Given the description of an element on the screen output the (x, y) to click on. 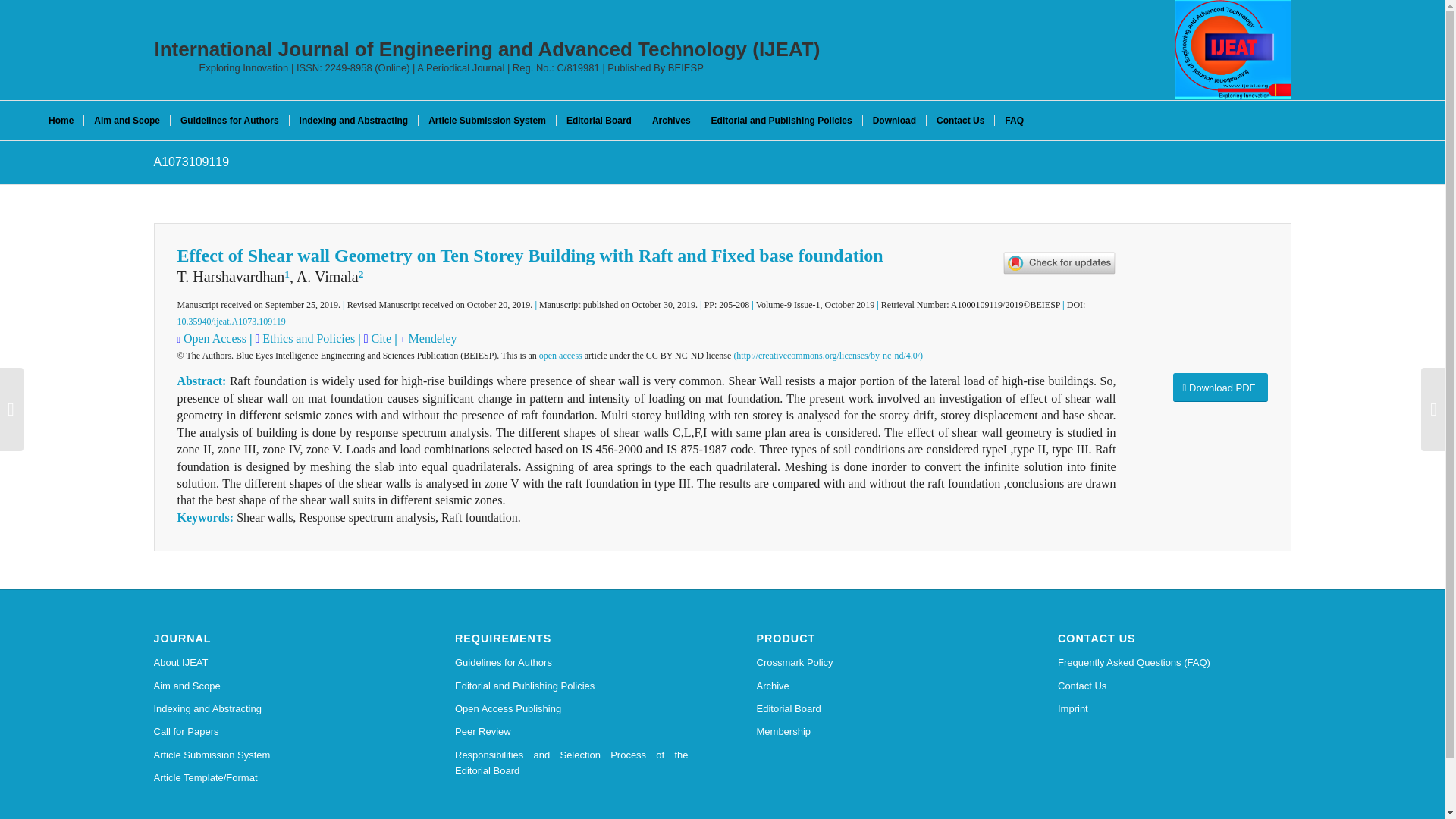
Download PDF (1219, 387)
Download (893, 120)
Article Submission System (269, 754)
Call for Papers (269, 731)
Editorial Board (599, 120)
Ethics and Policies (307, 338)
Editorial and Publishing Policies (571, 685)
IJEAT-logo-W (1232, 49)
Mendeley (433, 338)
open access (560, 355)
